Given the description of an element on the screen output the (x, y) to click on. 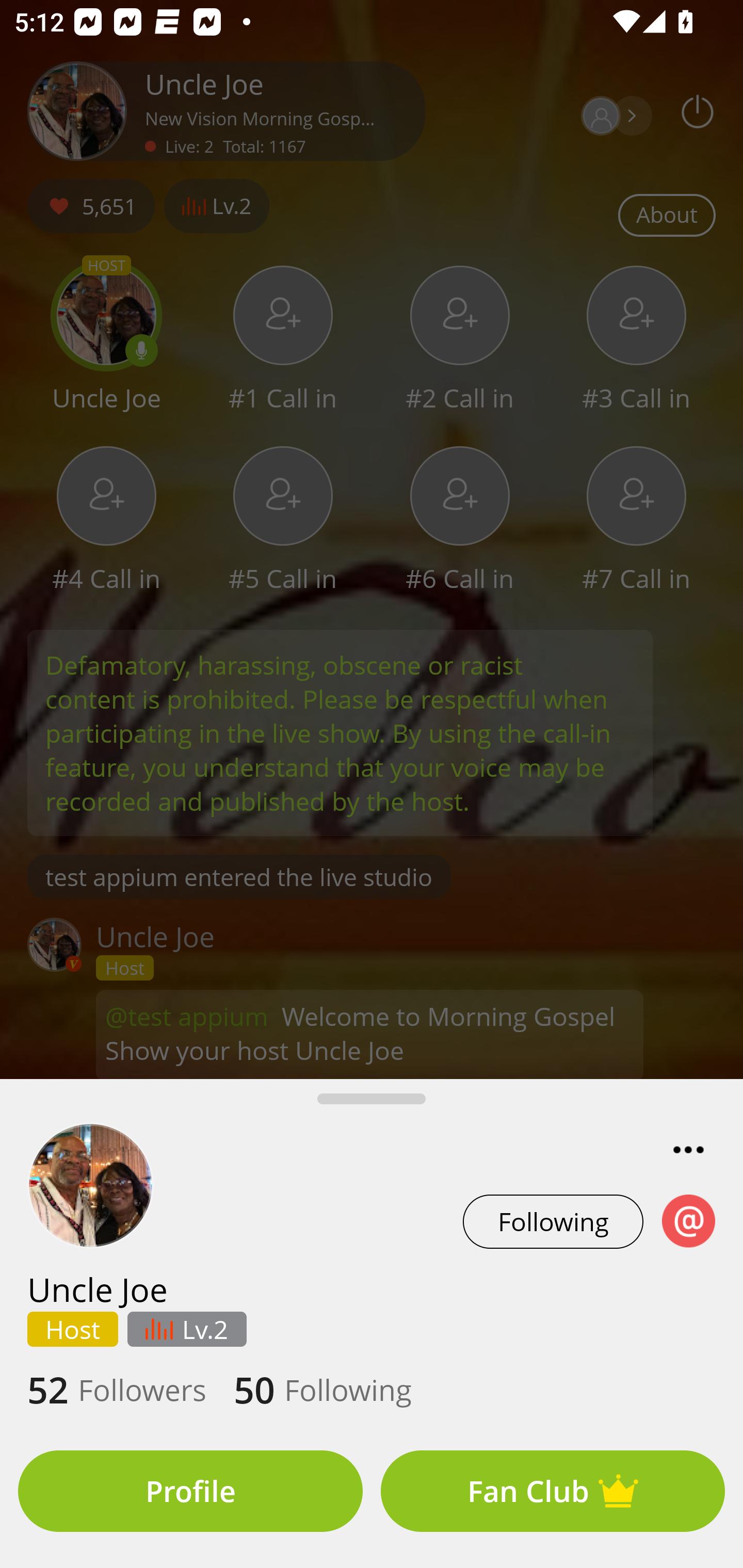
Following (552, 1221)
Profile (189, 1490)
Fan Club (552, 1490)
